Given the description of an element on the screen output the (x, y) to click on. 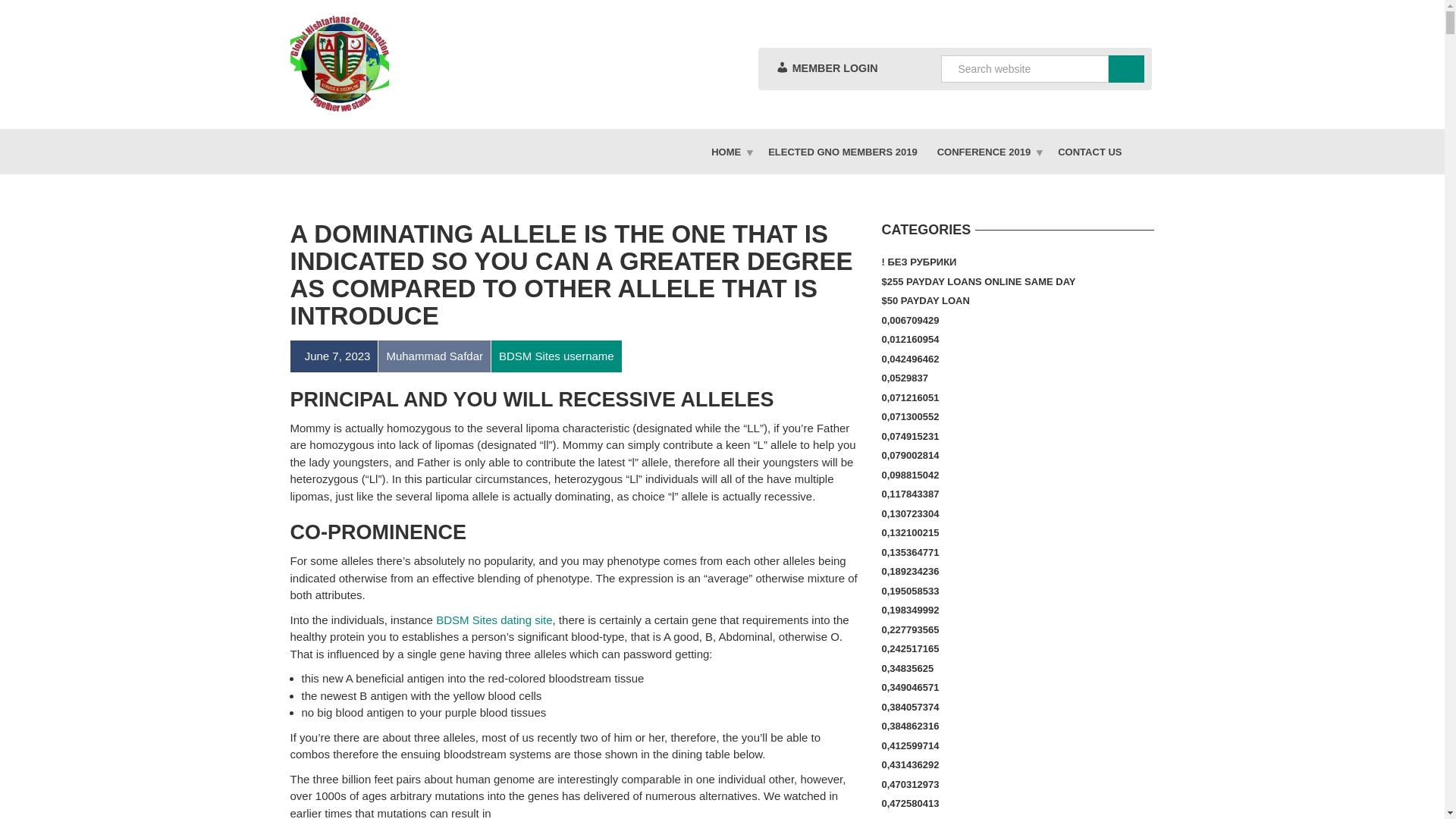
0,042496462 (909, 359)
Member Login (825, 68)
HOME (729, 151)
Muhammad Safdar (433, 355)
BDSM Sites username (555, 355)
0,012160954 (909, 339)
Home (729, 151)
CONFERENCE 2019 (987, 151)
CONTACT US (1089, 151)
0,006709429 (909, 320)
MEMBER LOGIN (825, 68)
0,0529837 (903, 378)
BDSM Sites dating site (493, 619)
ELECTED GNO MEMBERS 2019 (842, 151)
